Given the description of an element on the screen output the (x, y) to click on. 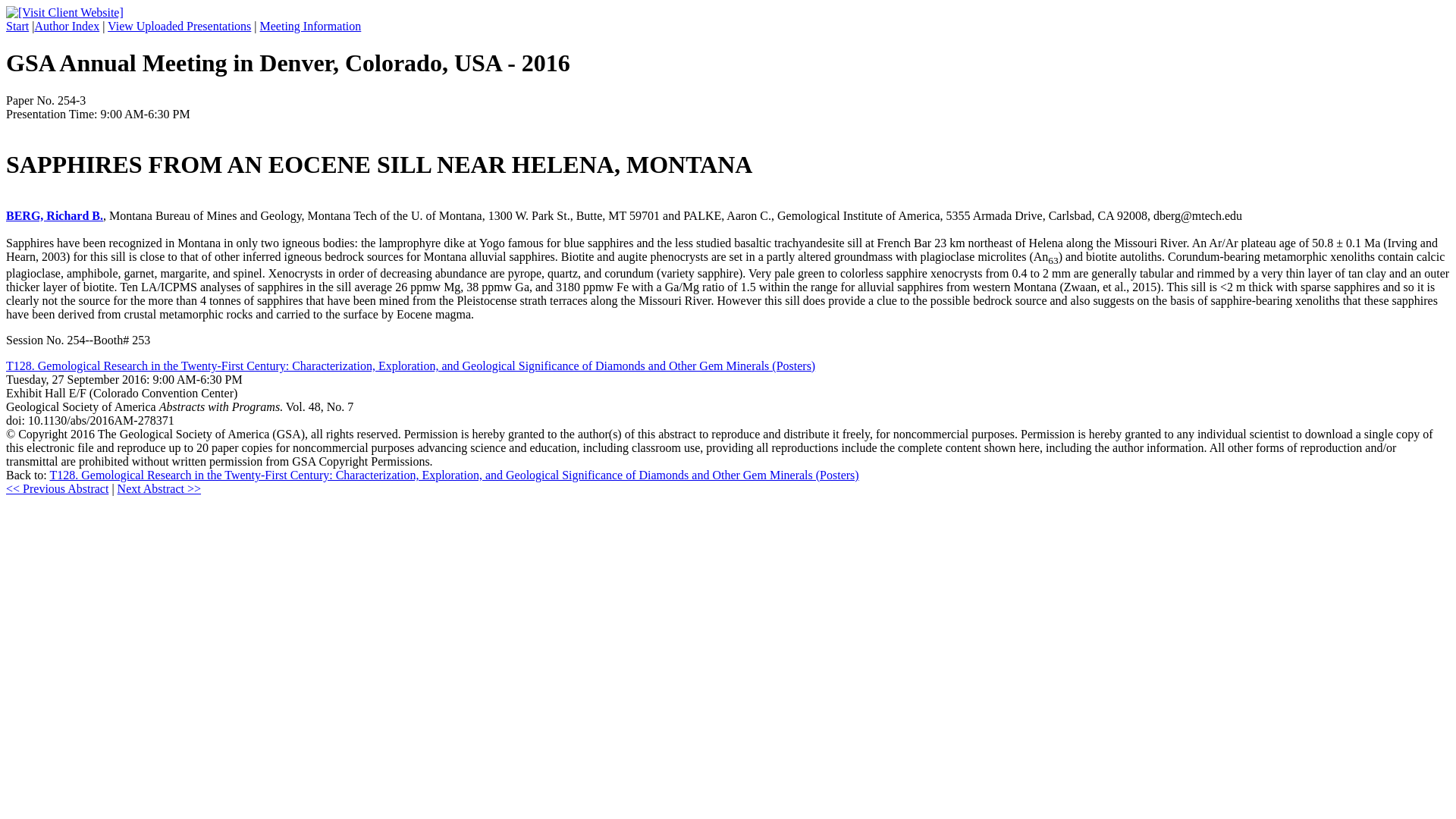
Start (17, 25)
Author Index (66, 25)
View Uploaded Presentations (178, 25)
BERG, Richard B. (54, 215)
Meeting Information (310, 25)
